Given the description of an element on the screen output the (x, y) to click on. 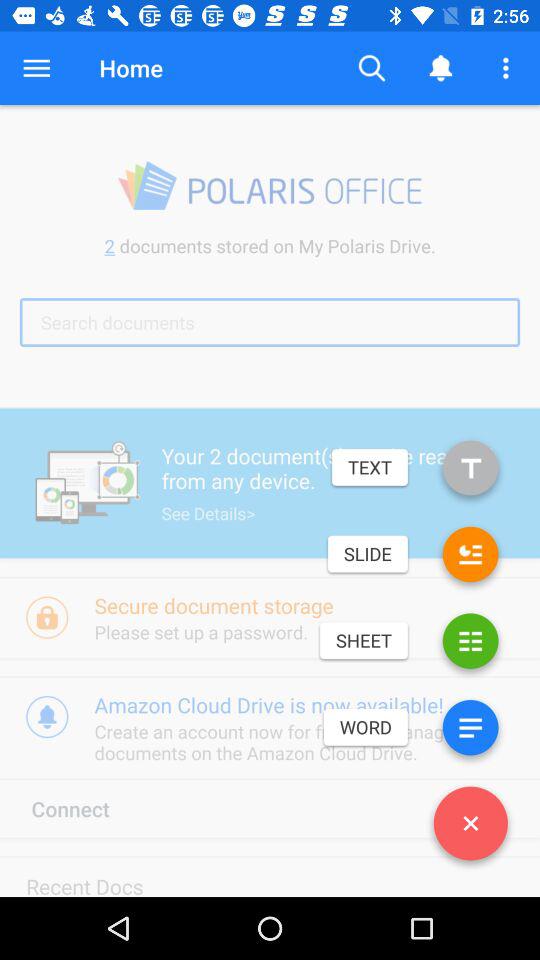
to select the document sheet (470, 644)
